Given the description of an element on the screen output the (x, y) to click on. 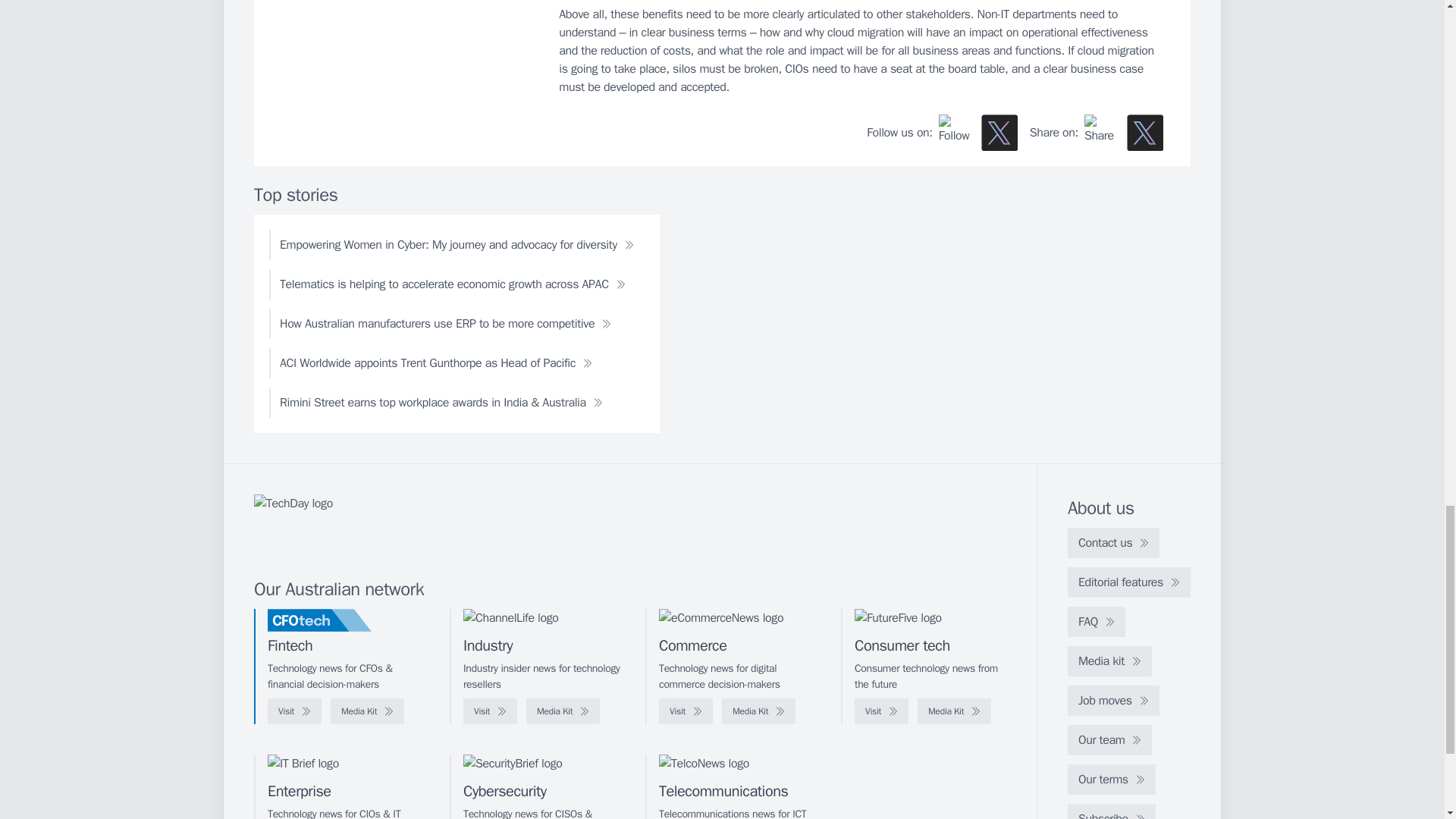
Visit (489, 710)
Media Kit (367, 710)
ACI Worldwide appoints Trent Gunthorpe as Head of Pacific (435, 363)
Visit (294, 710)
Media Kit (562, 710)
Media Kit (758, 710)
Media Kit (954, 710)
Visit (881, 710)
